Given the description of an element on the screen output the (x, y) to click on. 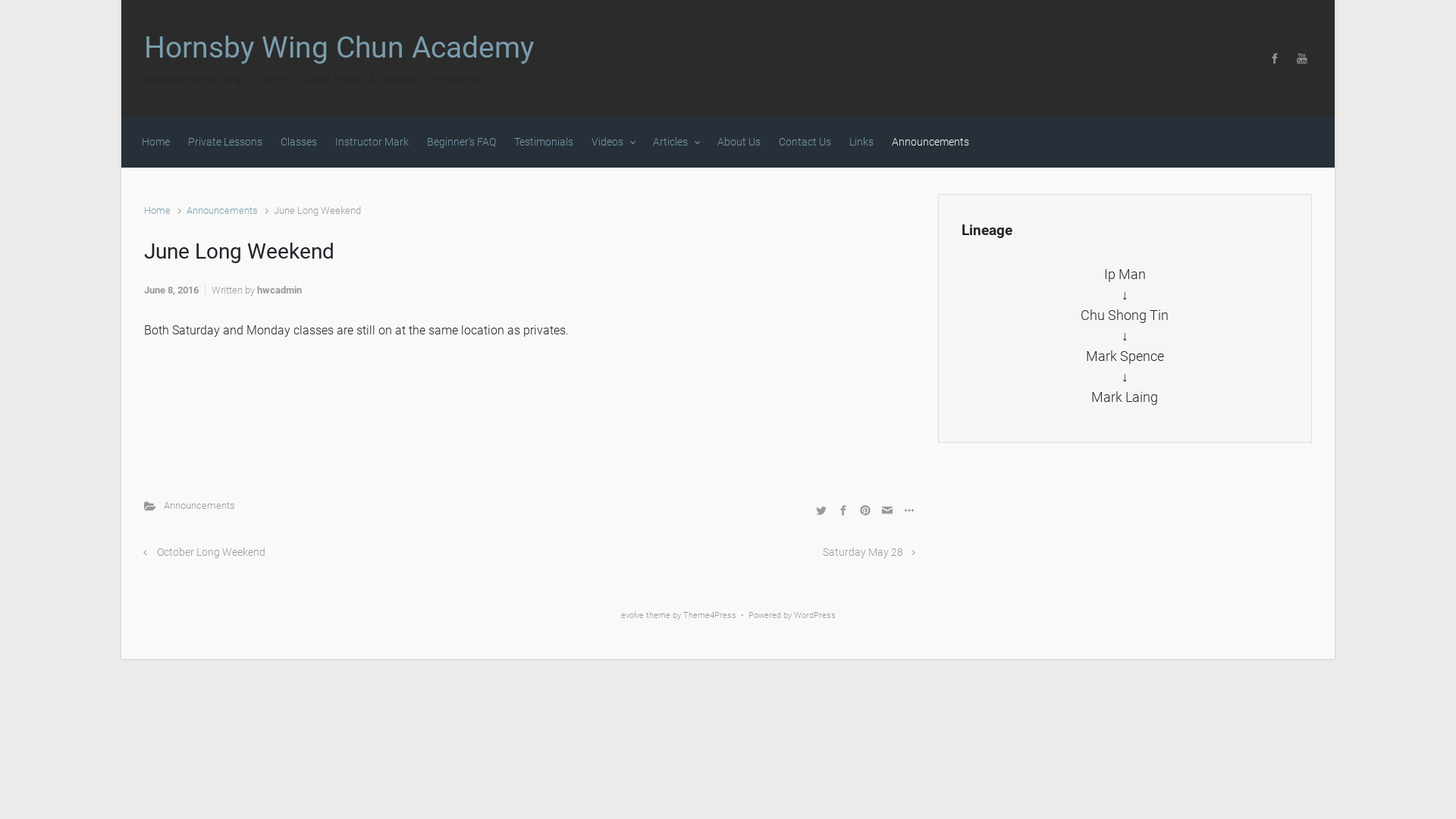
About Us Element type: text (738, 141)
Announcements Element type: text (199, 505)
Testimonials Element type: text (543, 141)
WordPress Element type: text (813, 615)
Contact Us Element type: text (804, 141)
Announcements Element type: text (930, 141)
Private Lessons Element type: text (225, 141)
Classes Element type: text (298, 141)
Home Element type: text (157, 210)
October Long Weekend Element type: text (204, 552)
Videos Element type: text (612, 141)
hwcadmin Element type: text (279, 289)
Instructor Mark Element type: text (371, 141)
Saturday May 28 Element type: text (868, 552)
Beginner's FAQ Element type: text (461, 141)
Home Element type: text (155, 141)
Hornsby Wing Chun Academy Element type: text (338, 47)
Articles Element type: text (675, 141)
Announcements Element type: text (221, 210)
Links Element type: text (861, 141)
evolve Element type: text (631, 615)
